Given the description of an element on the screen output the (x, y) to click on. 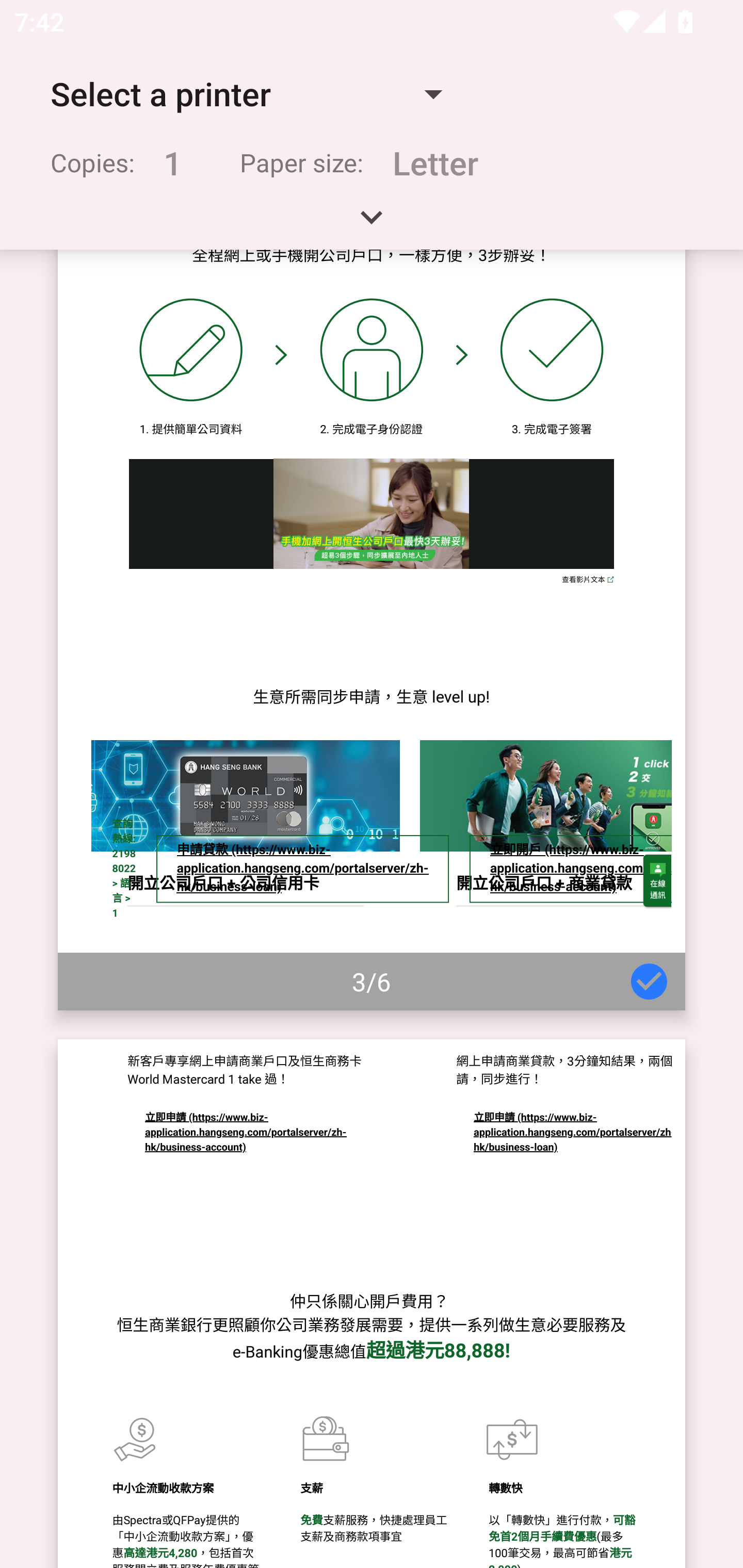
Select a printer (245, 93)
Expand handle (371, 224)
Page 3 of 6 3/6 (371, 629)
Page 4 of 6 (371, 1303)
